Given the description of an element on the screen output the (x, y) to click on. 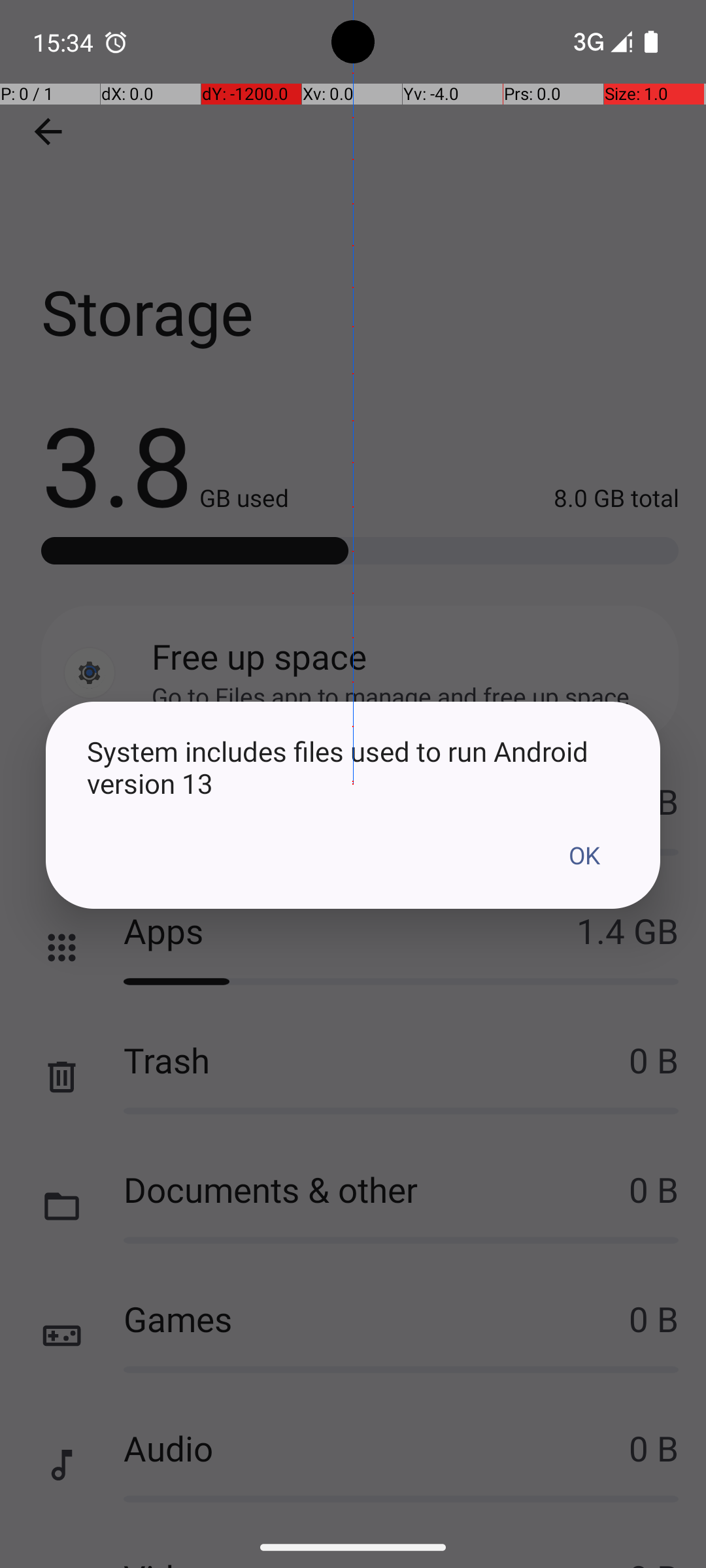
System includes files used to run Android version 13 Element type: android.widget.TextView (352, 766)
